Given the description of an element on the screen output the (x, y) to click on. 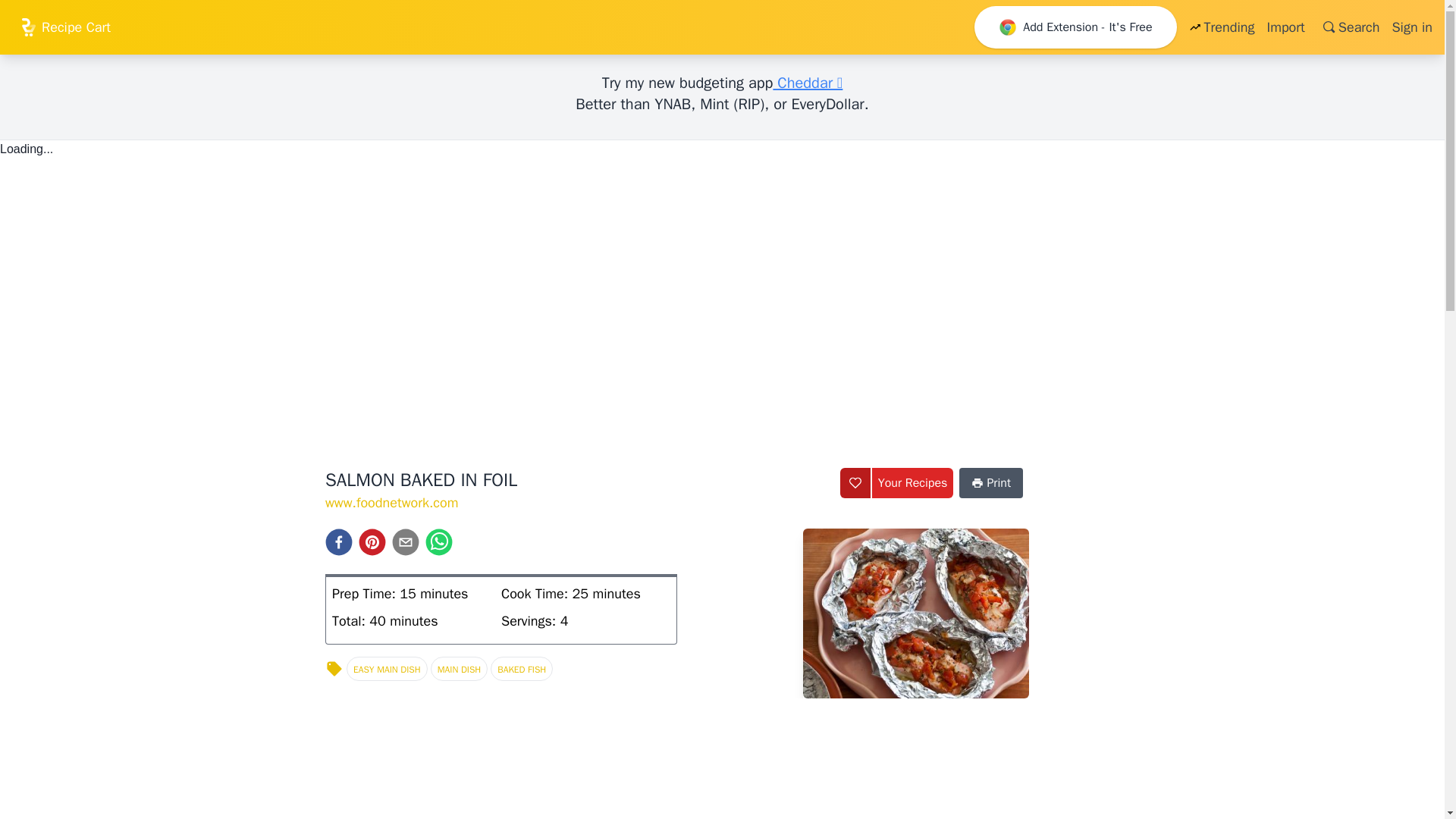
BAKED FISH (521, 668)
Add Extension - It's Free (1075, 26)
Search (1348, 26)
Recipe Cart (63, 26)
EASY MAIN DISH (387, 668)
Your Recipes (912, 482)
Trending (1221, 26)
Advertisement (676, 764)
Sign in (1411, 26)
Advertisement (144, 561)
